Given the description of an element on the screen output the (x, y) to click on. 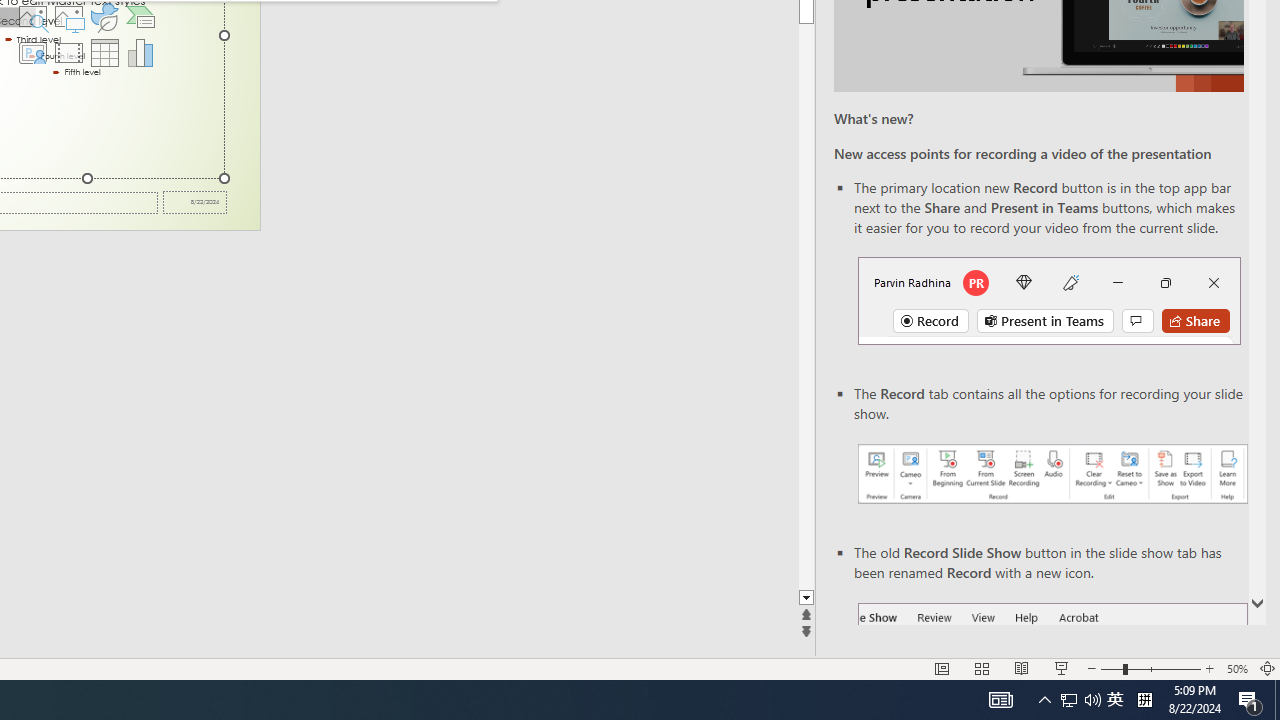
Record button in top bar (1049, 300)
Insert Cameo (32, 52)
Date (194, 201)
Insert Table (105, 52)
Insert Chart (141, 52)
